Given the description of an element on the screen output the (x, y) to click on. 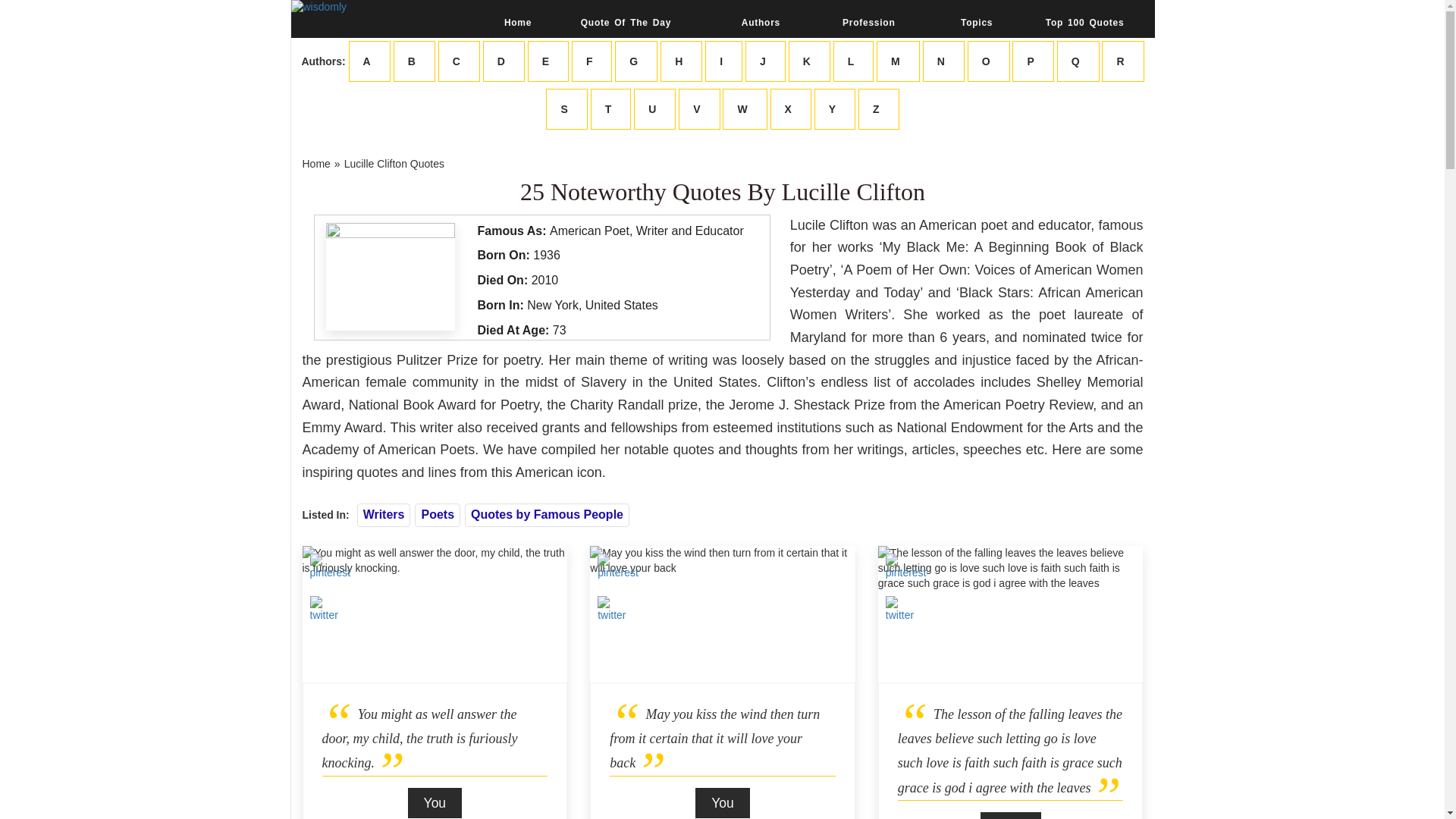
You (435, 802)
S (566, 108)
A (369, 60)
Quotes by Famous People (546, 513)
H (681, 60)
J (765, 60)
Z (879, 108)
Top 100 Quotes (1084, 22)
Authors (759, 22)
T (611, 108)
Topics (976, 22)
F (592, 60)
U (654, 108)
I (723, 60)
N (943, 60)
